Given the description of an element on the screen output the (x, y) to click on. 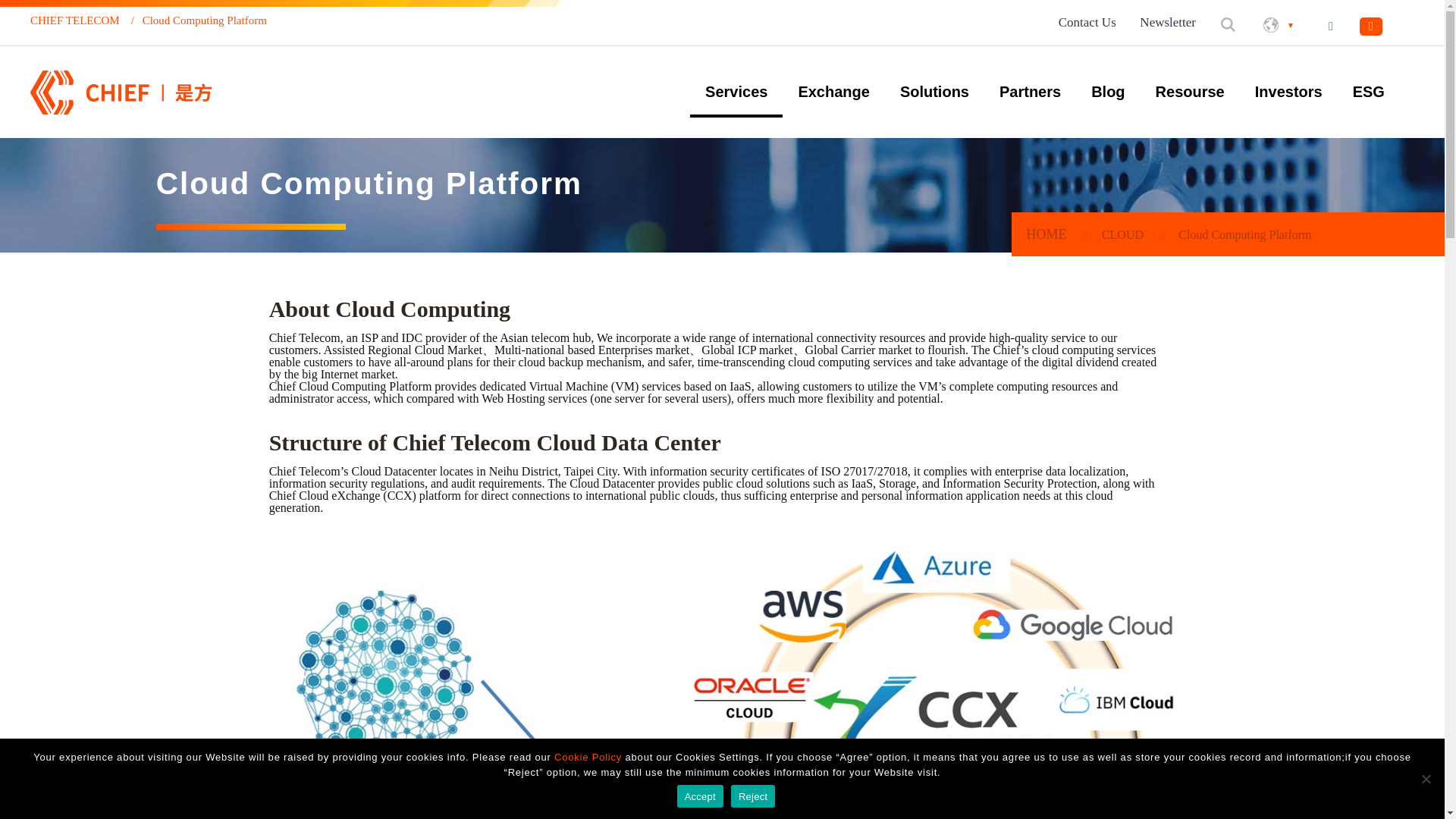
Services (736, 91)
Facebook (1330, 25)
YouTube (1370, 25)
Contact Us (1086, 21)
Newsletter (1166, 21)
